Given the description of an element on the screen output the (x, y) to click on. 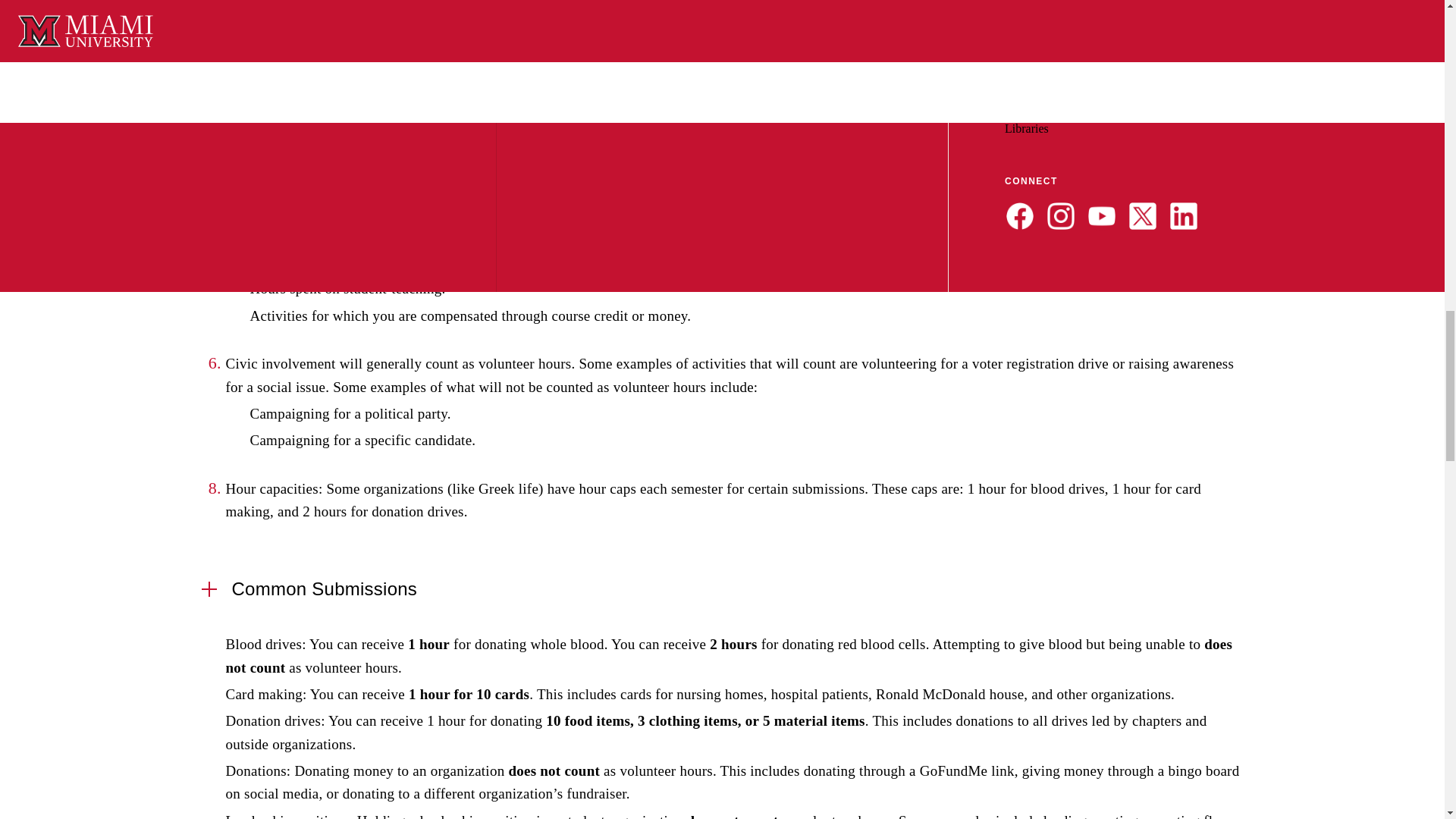
Community Connect (776, 59)
